Given the description of an element on the screen output the (x, y) to click on. 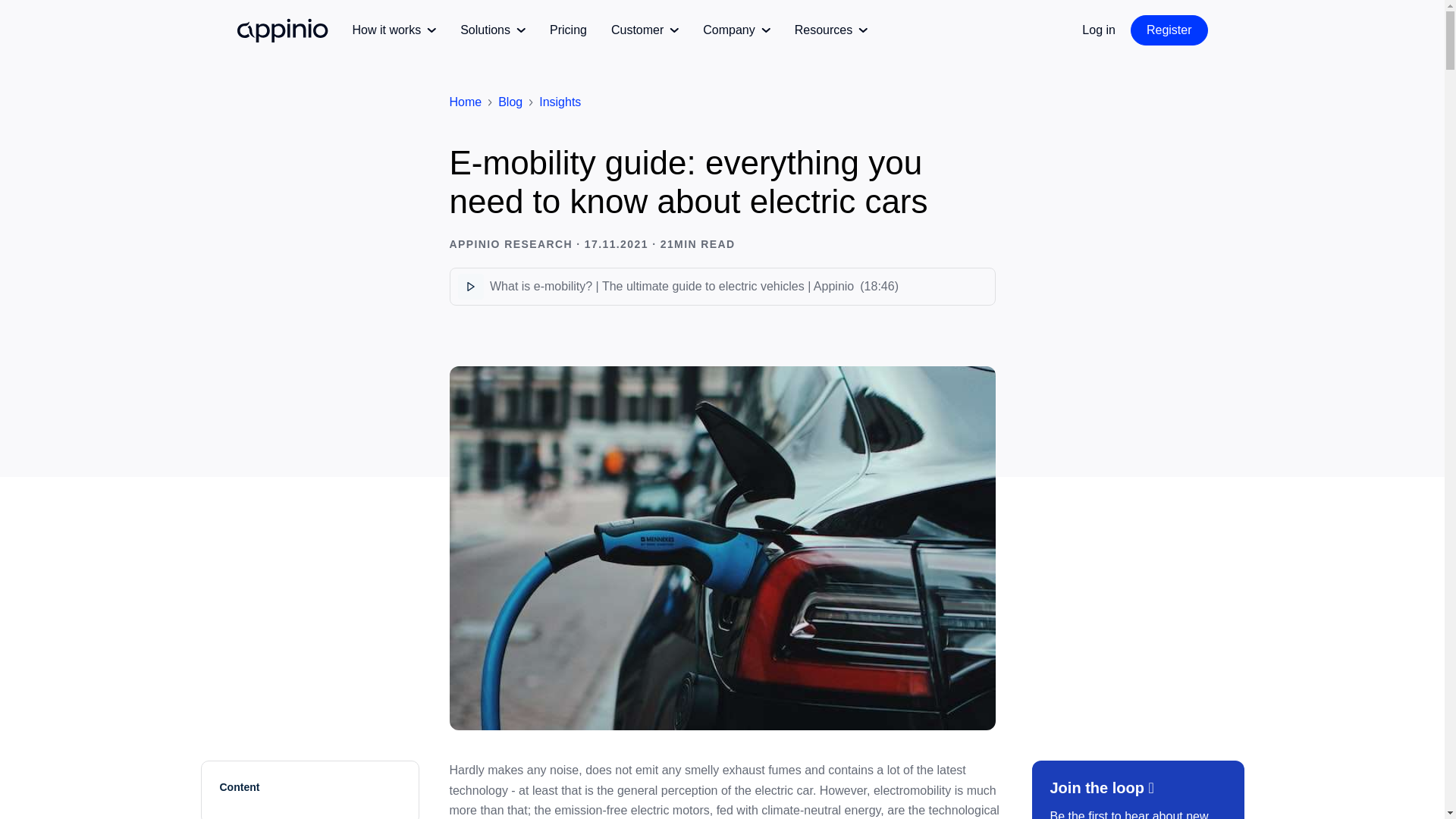
How it works (393, 30)
Customer (644, 30)
Resources (830, 30)
Solutions (492, 30)
Pricing (568, 30)
Company (736, 30)
